Given the description of an element on the screen output the (x, y) to click on. 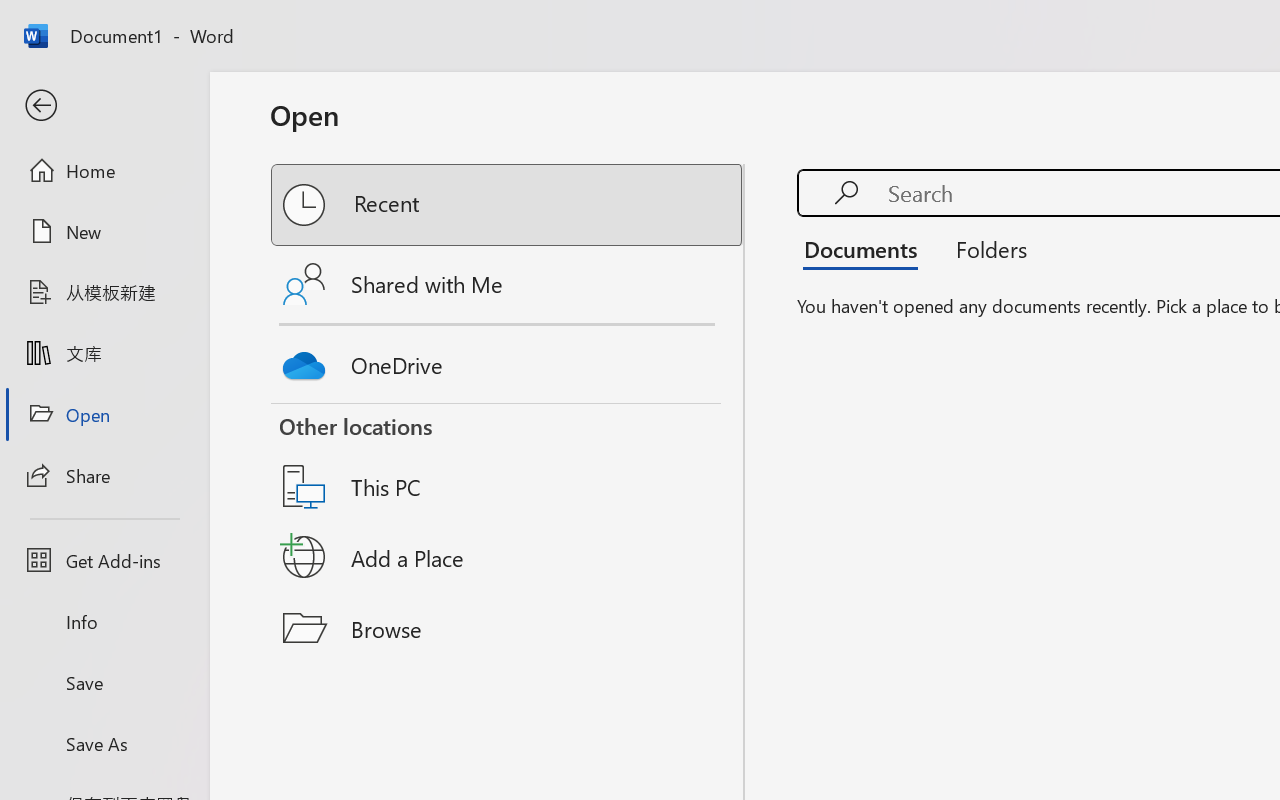
Info (104, 621)
New (104, 231)
Save As (104, 743)
Folders (984, 248)
This PC (507, 461)
Back (104, 106)
Add a Place (507, 557)
Recent (507, 205)
OneDrive (507, 359)
Shared with Me (507, 283)
